Given the description of an element on the screen output the (x, y) to click on. 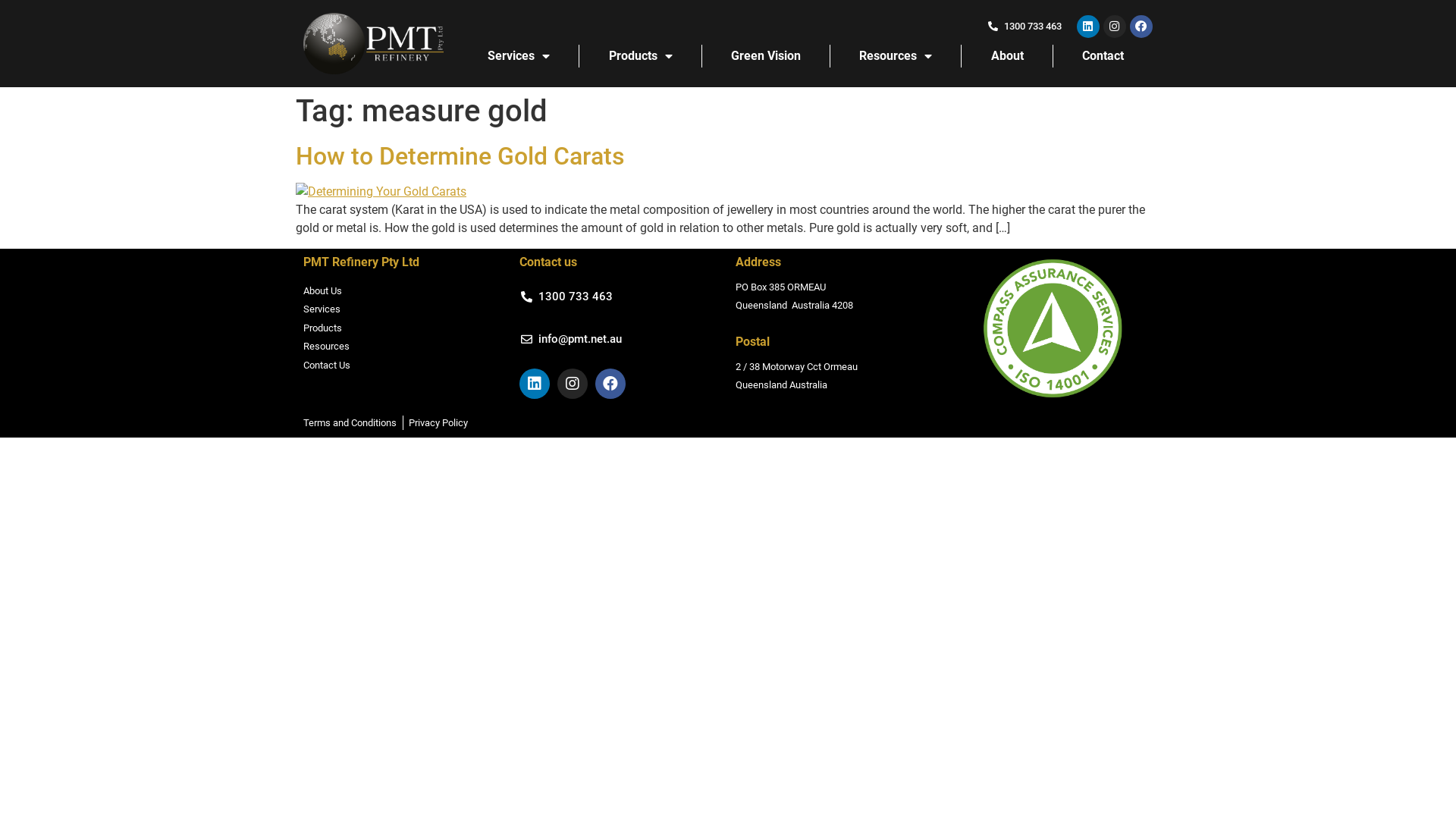
About Element type: text (1006, 55)
info@pmt.net.au Element type: text (571, 339)
Products Element type: text (403, 327)
1300 733 463 Element type: text (566, 296)
How to Determine Gold Carats Element type: text (459, 155)
1300 733 463 Element type: text (1024, 25)
Privacy Policy Element type: text (437, 422)
About Us Element type: text (403, 290)
Green Vision Element type: text (765, 55)
Terms and Conditions Element type: text (349, 422)
Services Element type: text (518, 55)
Products Element type: text (639, 55)
Contact Element type: text (1102, 55)
Services Element type: text (403, 308)
Contact Us Element type: text (403, 365)
Resources Element type: text (895, 55)
Resources Element type: text (403, 346)
PMT Refinery LOGO WHITE Element type: hover (373, 43)
